Given the description of an element on the screen output the (x, y) to click on. 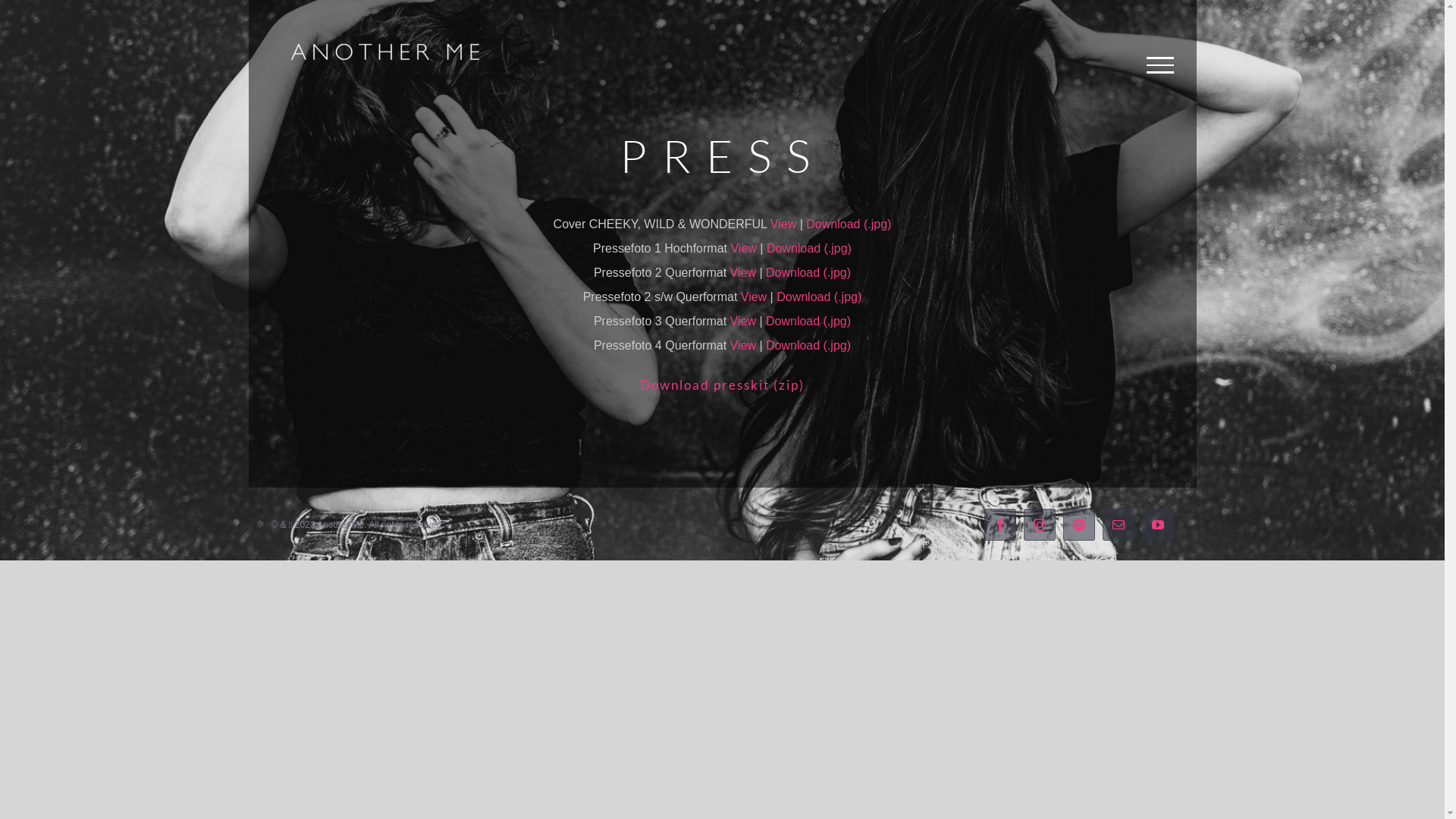
View Element type: text (743, 344)
Download (.jpg) Element type: text (807, 344)
Download (.jpg) Element type: text (807, 320)
Download (.jpg) Element type: text (848, 223)
E-Mail Element type: text (1118, 524)
Facebook Element type: text (1000, 524)
Download (.jpg) Element type: text (818, 296)
Download (.jpg) Element type: text (808, 247)
View Element type: text (783, 223)
View Element type: text (743, 320)
View Element type: text (743, 272)
Spotify Element type: text (1079, 524)
View Element type: text (753, 296)
View Element type: text (743, 247)
Download (.jpg) Element type: text (807, 272)
Instagram Element type: text (1039, 524)
Download presskit (zip) Element type: text (722, 384)
YouTube Element type: text (1157, 524)
